Given the description of an element on the screen output the (x, y) to click on. 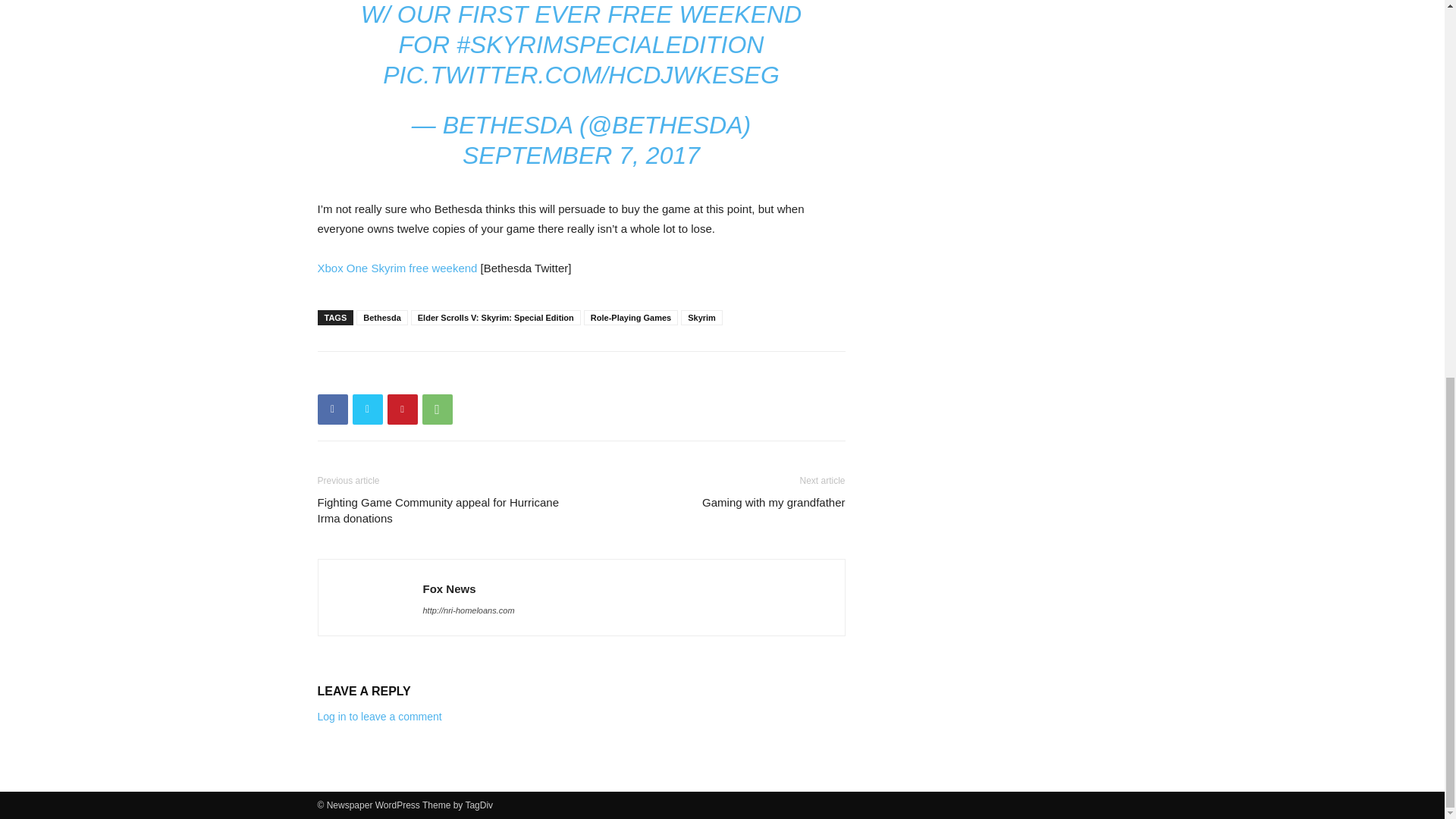
Xbox One Skyrim free weekend (397, 267)
Skyrim (701, 317)
Elder Scrolls V: Skyrim: Special Edition (495, 317)
bottomFacebookLike (430, 375)
Bethesda (381, 317)
Gaming with my grandfather (772, 502)
SEPTEMBER 7, 2017 (581, 154)
Pinterest (401, 409)
Twitter (366, 409)
Role-Playing Games (630, 317)
Fighting Game Community appeal for Hurricane Irma donations (439, 510)
Facebook (332, 409)
WhatsApp (436, 409)
